Given the description of an element on the screen output the (x, y) to click on. 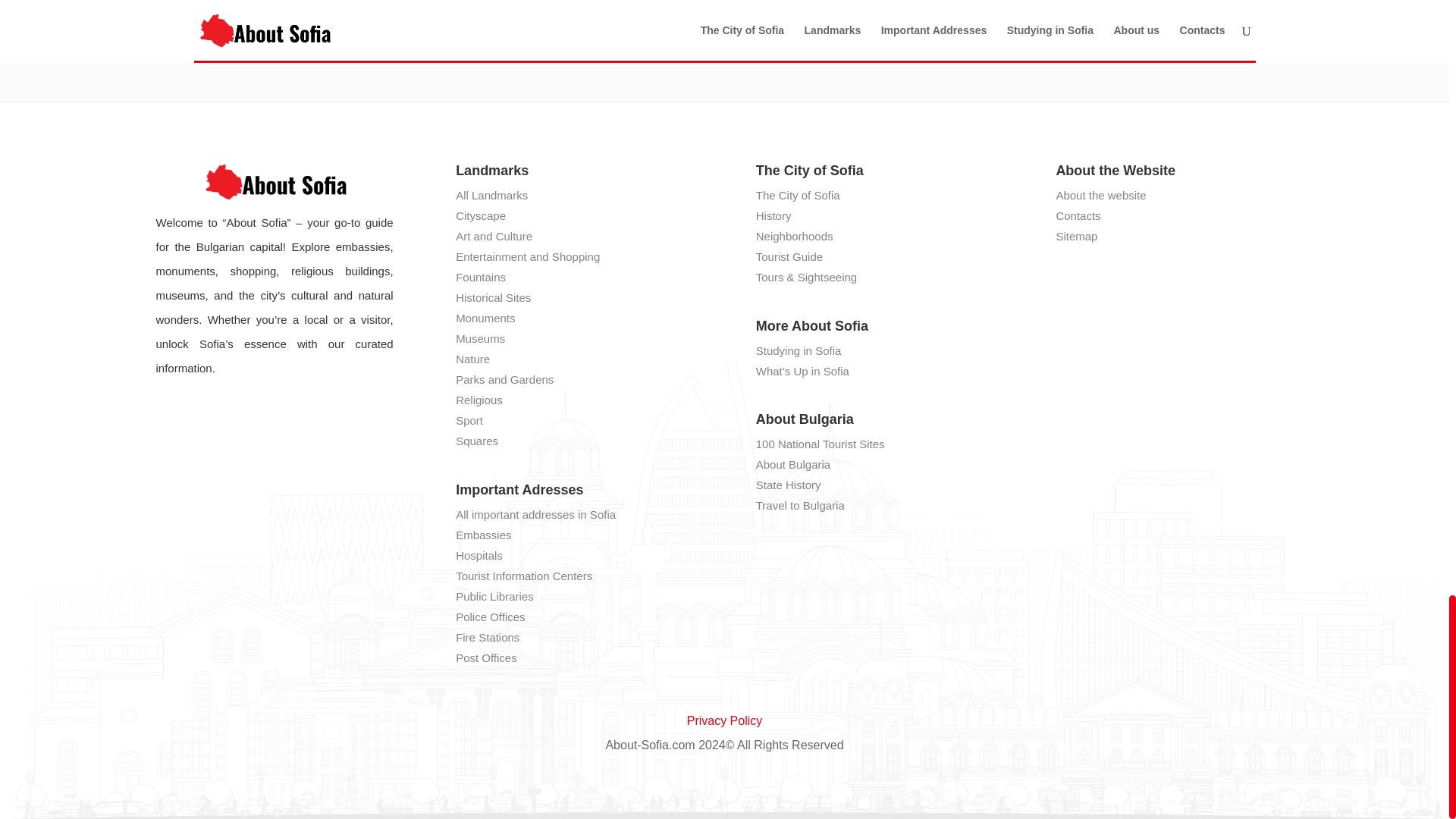
Art and Culture (493, 236)
Academy of the Ministry of Internal Affairs (980, 4)
Technical University of Sofia (724, 4)
Why Study in Bulgaria? (466, 4)
Why Study in Bulgaria? (466, 4)
All Landmarks (491, 195)
Cityscape (480, 215)
Academy of the Ministry of Internal Affairs (980, 4)
Technical University of Sofia (724, 4)
